Given the description of an element on the screen output the (x, y) to click on. 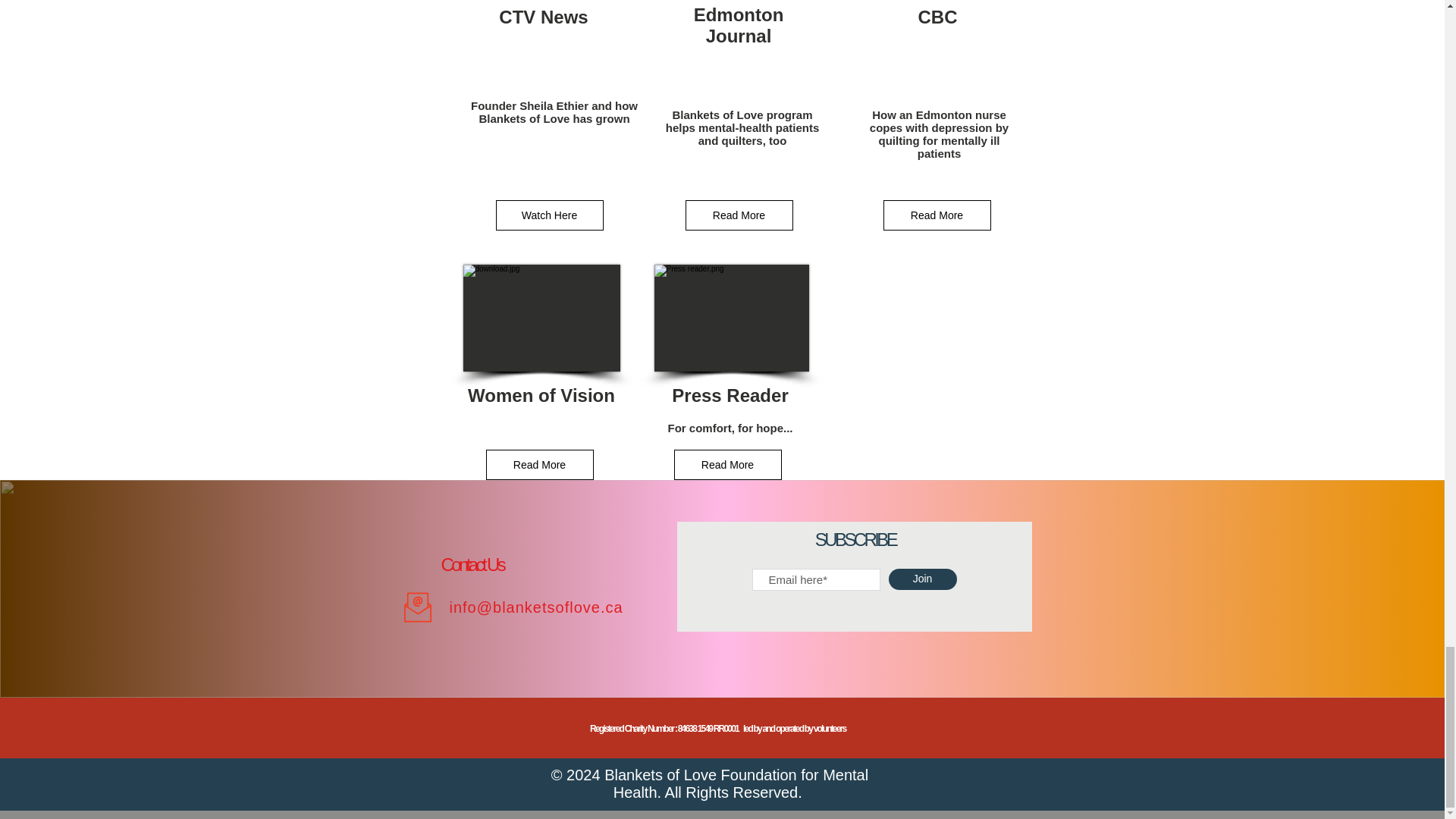
Watch Here (550, 214)
Read More (538, 464)
Read More (739, 214)
Join (922, 578)
Read More (936, 214)
Read More (726, 464)
